Given the description of an element on the screen output the (x, y) to click on. 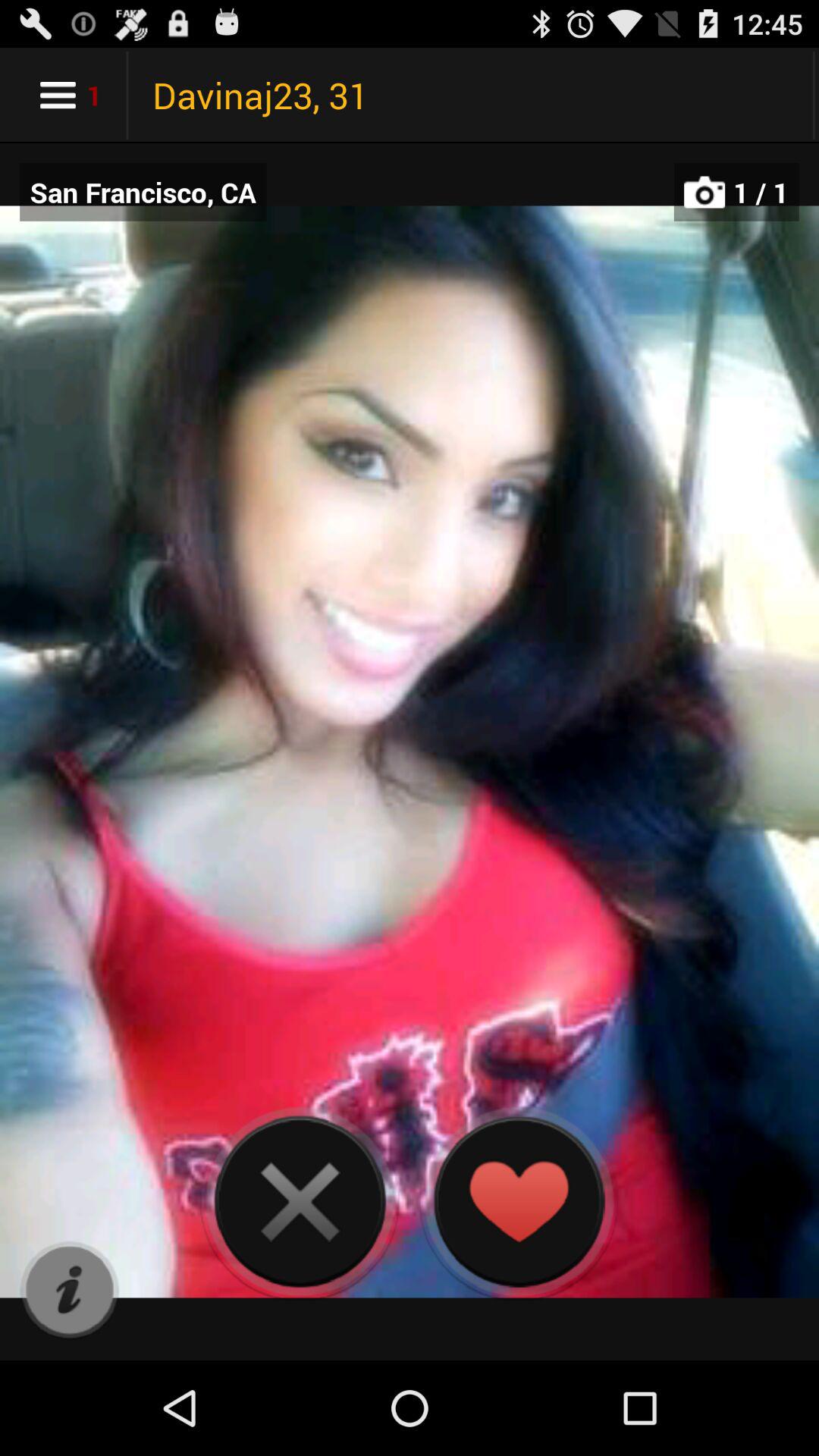
dislike button (299, 1200)
